Given the description of an element on the screen output the (x, y) to click on. 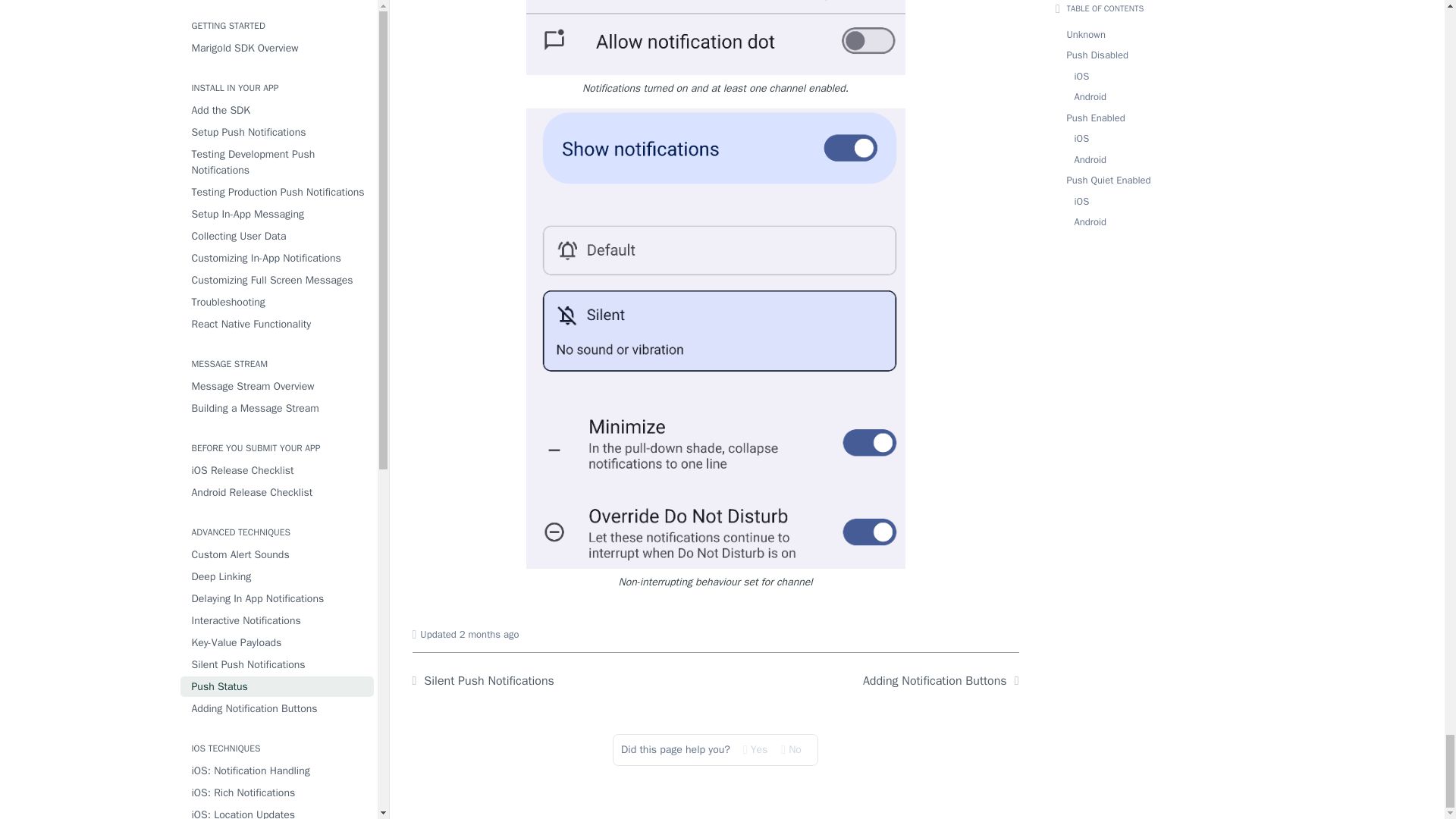
Screen Shot 2019-01-08 at 11.13.56 AM.png (715, 38)
